Given the description of an element on the screen output the (x, y) to click on. 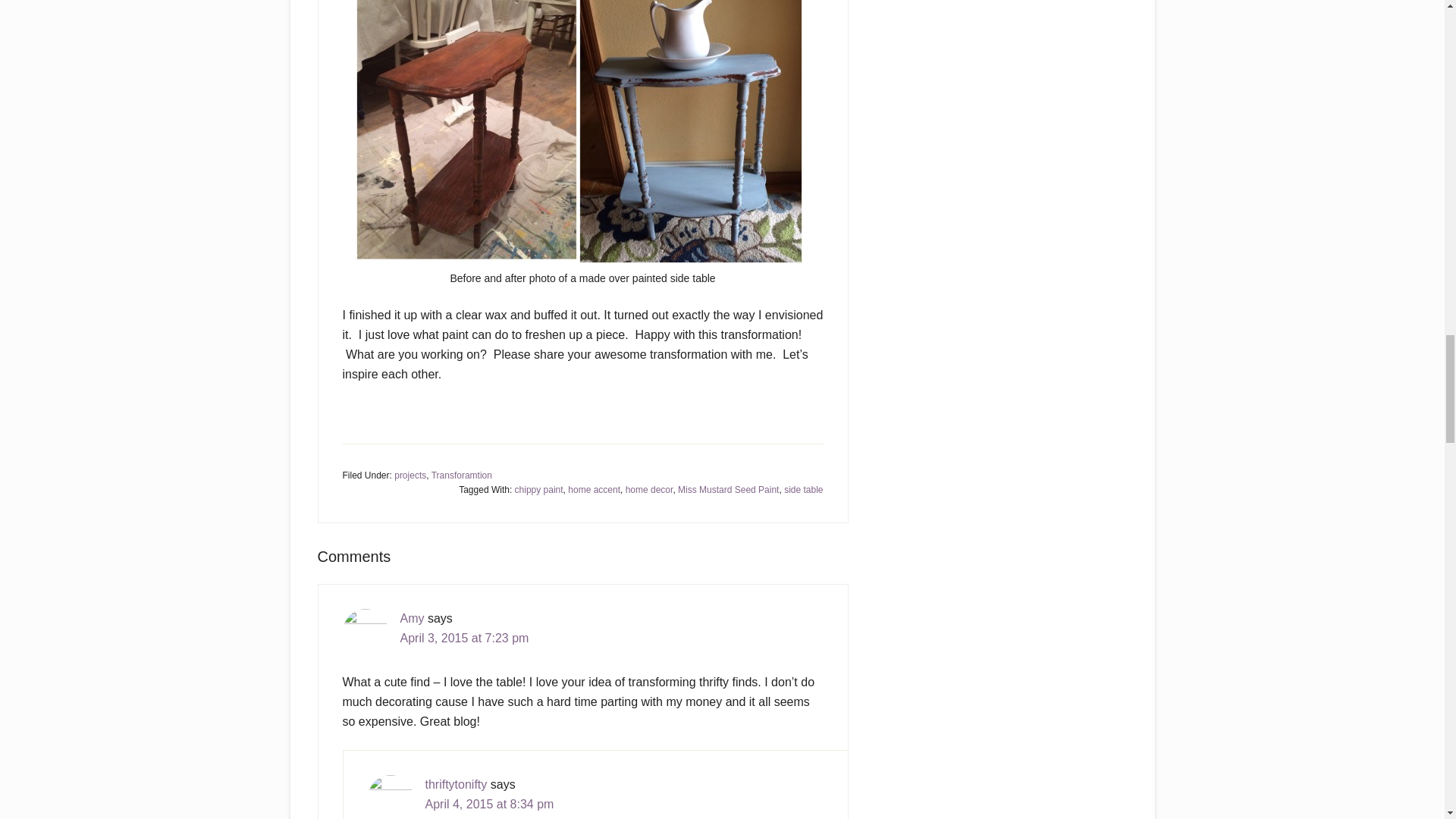
chippy paint (539, 489)
home accent (593, 489)
projects (410, 475)
April 4, 2015 at 8:34 pm (489, 803)
home decor (649, 489)
thriftytonifty (455, 784)
Transforamtion (461, 475)
April 3, 2015 at 7:23 pm (464, 637)
side table (803, 489)
Miss Mustard Seed Paint (728, 489)
